Given the description of an element on the screen output the (x, y) to click on. 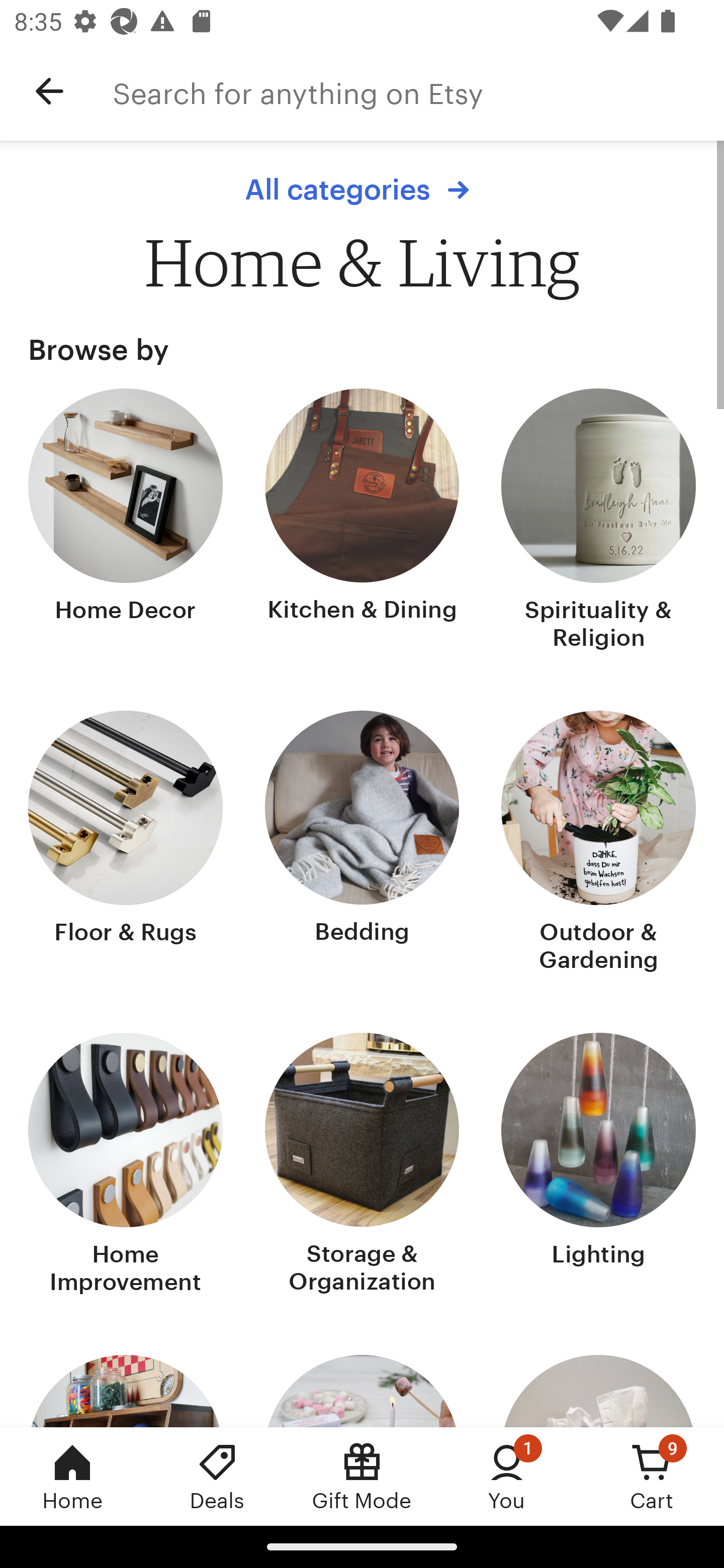
Navigate up (49, 91)
Search for anything on Etsy (418, 91)
All categories (361, 189)
Home Decor (125, 520)
Kitchen & Dining (361, 520)
Spirituality & Religion (598, 520)
Floor & Rugs (125, 843)
Bedding (361, 843)
Outdoor & Gardening (598, 843)
Home Improvement (125, 1165)
Storage & Organization (361, 1165)
Lighting (598, 1165)
Deals (216, 1475)
Gift Mode (361, 1475)
You, 1 new notification You (506, 1475)
Cart, 9 new notifications Cart (651, 1475)
